Given the description of an element on the screen output the (x, y) to click on. 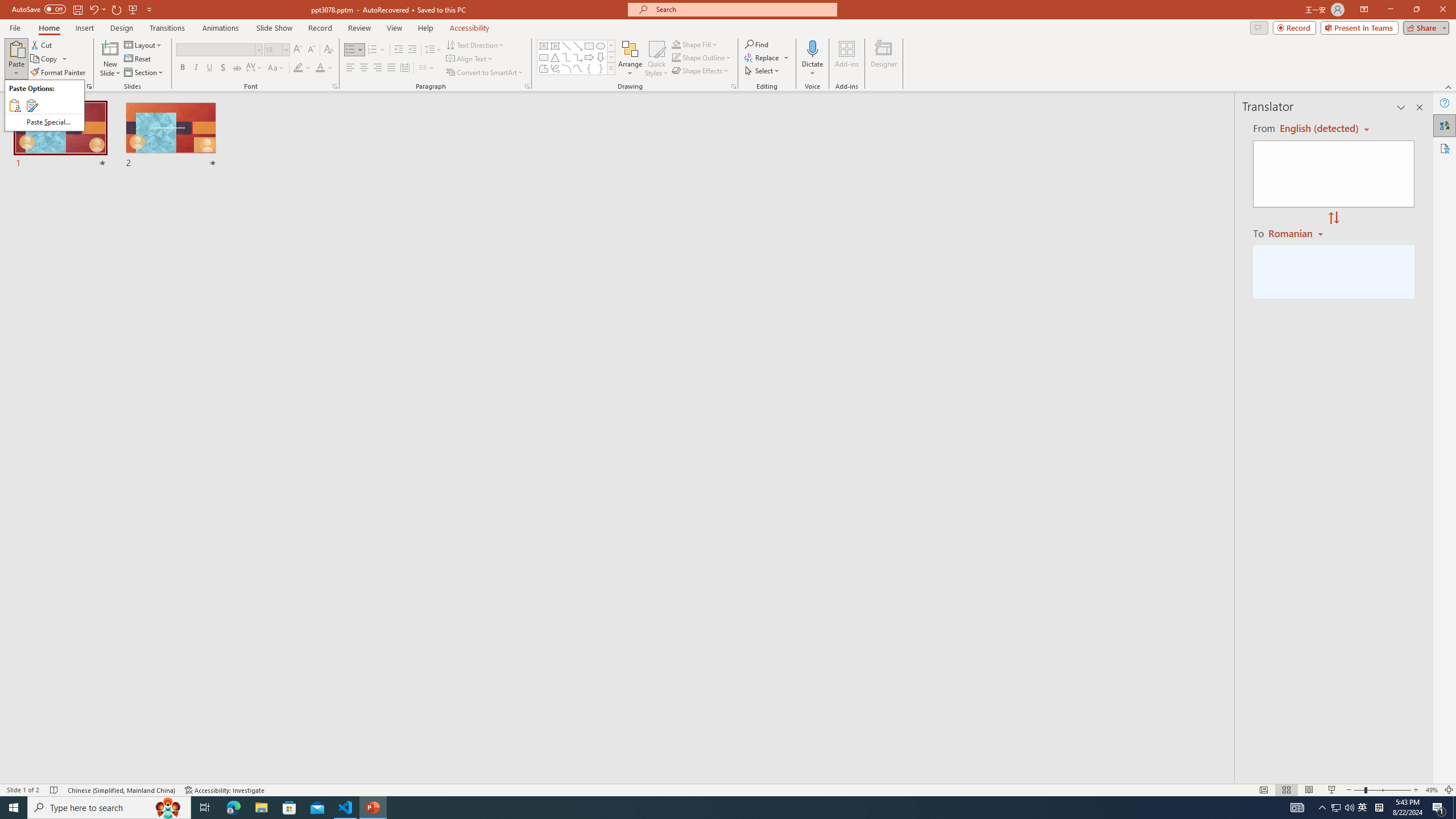
Arrange (630, 58)
Q2790: 100% (1349, 807)
Shape Fill Dark Green, Accent 2 (675, 44)
Font Color Red (320, 67)
Isosceles Triangle (554, 57)
Microsoft Edge (233, 807)
Office Clipboard... (88, 85)
